Given the description of an element on the screen output the (x, y) to click on. 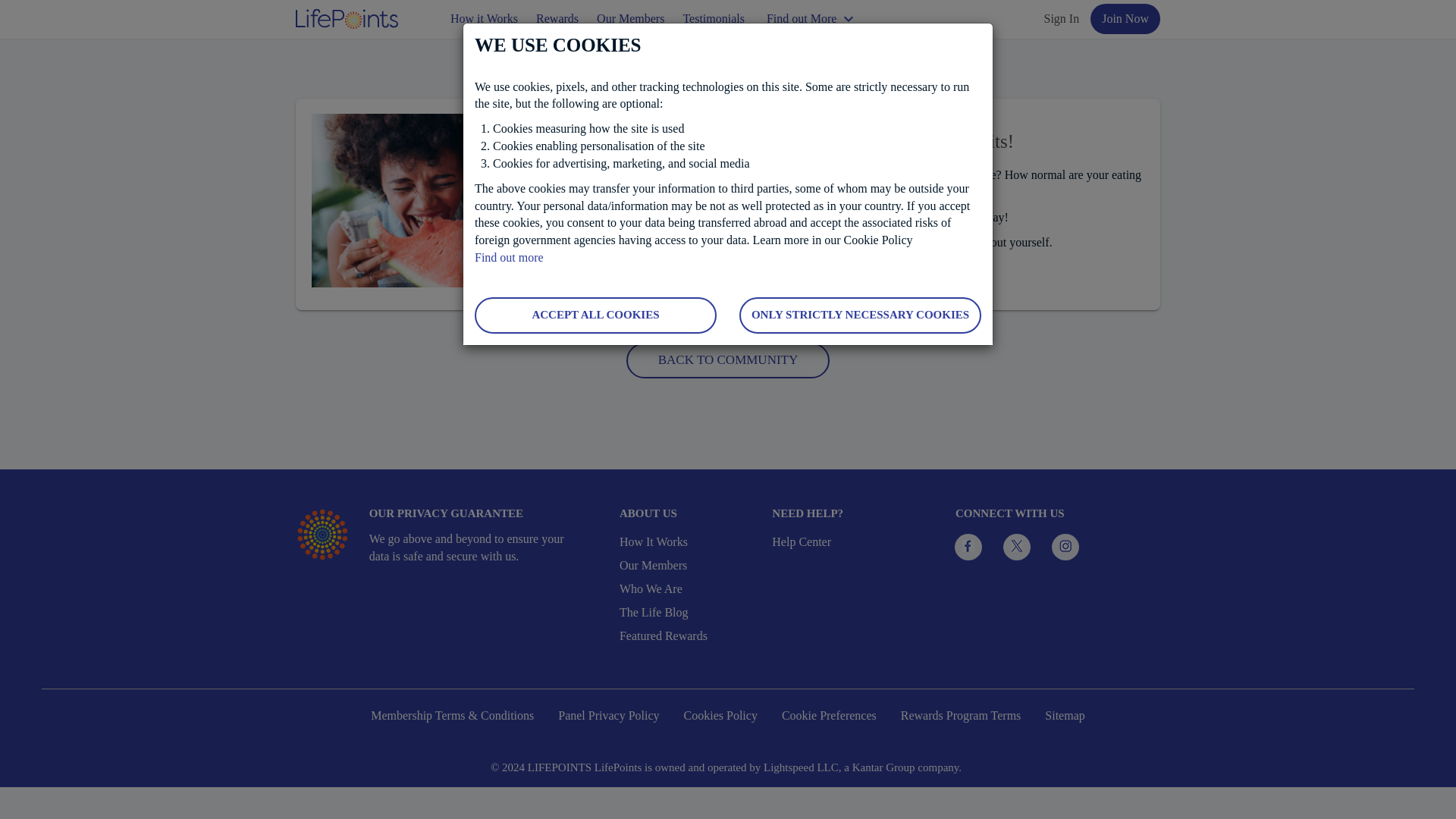
How it Works (483, 19)
Rewards (557, 19)
Join Now (1125, 19)
Testimonials (713, 19)
Find out more (508, 256)
ACCEPT ALL COOKIES (595, 315)
The Life Blog (688, 612)
BACK TO COMMUNITY (727, 360)
ONLY STRICTLY NECESSARY COOKIES (860, 315)
How It Works (688, 542)
Featured Rewards (688, 636)
Who We Are (688, 589)
Our Members (688, 566)
Sign In (1061, 18)
Find out More (812, 20)
